Given the description of an element on the screen output the (x, y) to click on. 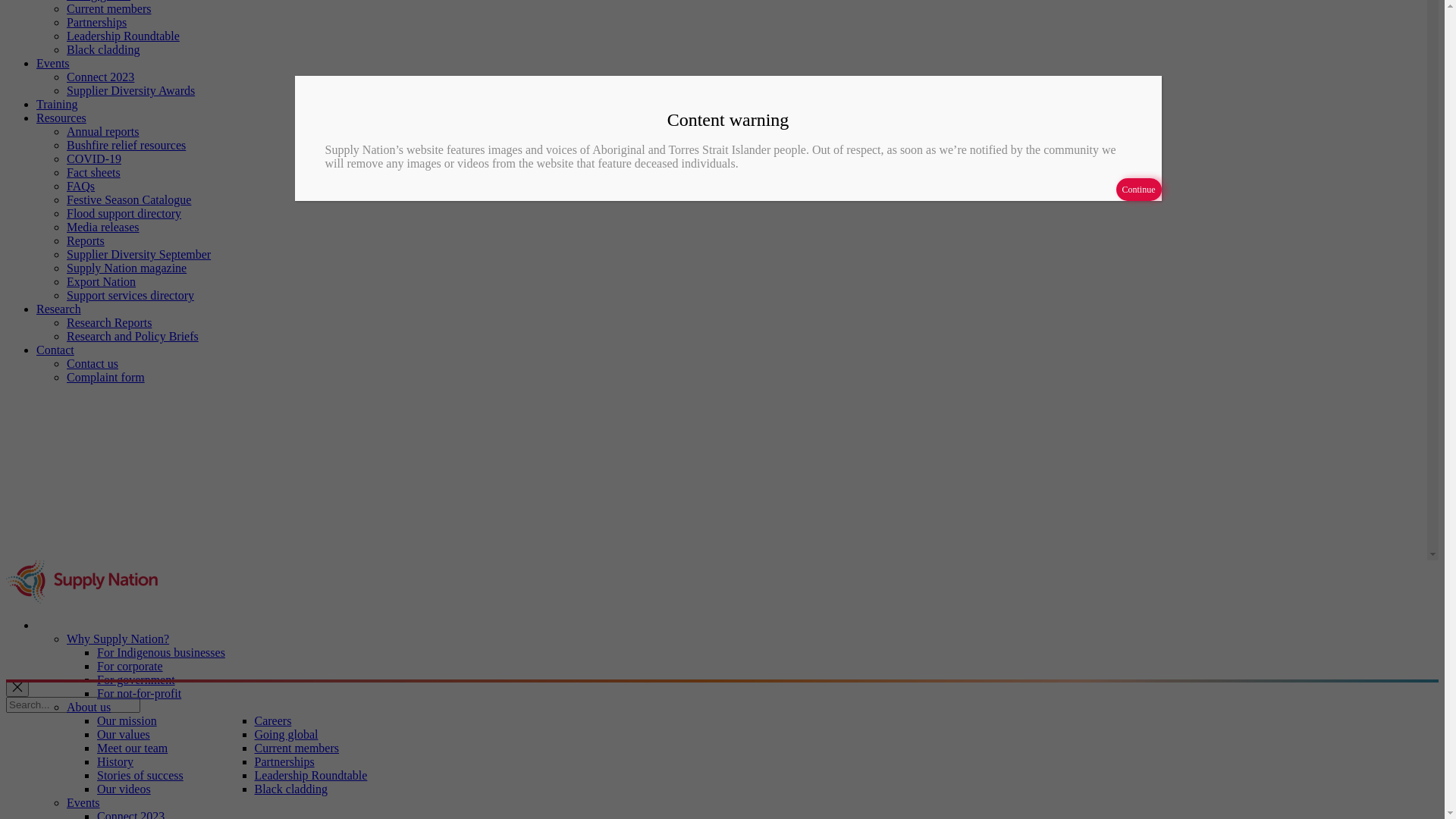
Events Element type: text (52, 376)
Research and Policy Briefs Element type: text (132, 649)
Flood support directory Element type: text (123, 526)
Research Reports Element type: text (108, 636)
FAQs Element type: text (80, 499)
Bushfire relief resources Element type: text (125, 458)
Black cladding Element type: text (102, 363)
Going global Element type: text (98, 308)
COVID-19 Element type: text (93, 472)
Training Element type: text (57, 417)
Research Element type: text (58, 622)
Leadership Roundtable Element type: text (122, 349)
Support services directory Element type: text (130, 608)
Reports Element type: text (85, 554)
Current members Element type: text (108, 322)
Contact us Element type: text (92, 677)
Partnerships Element type: text (96, 335)
Media releases Element type: text (102, 540)
Connect 2023 Element type: text (100, 390)
Contact Element type: text (55, 663)
Complaint form Element type: text (105, 690)
Supply Nation magazine Element type: text (126, 581)
Continue Element type: text (1138, 503)
Resources Element type: text (61, 431)
Festive Season Catalogue Element type: text (128, 513)
Fact sheets Element type: text (93, 486)
Annual reports Element type: text (102, 445)
Supplier Diversity Awards Element type: text (130, 404)
Export Nation Element type: text (100, 595)
Supplier Diversity September Element type: text (138, 567)
